Given the description of an element on the screen output the (x, y) to click on. 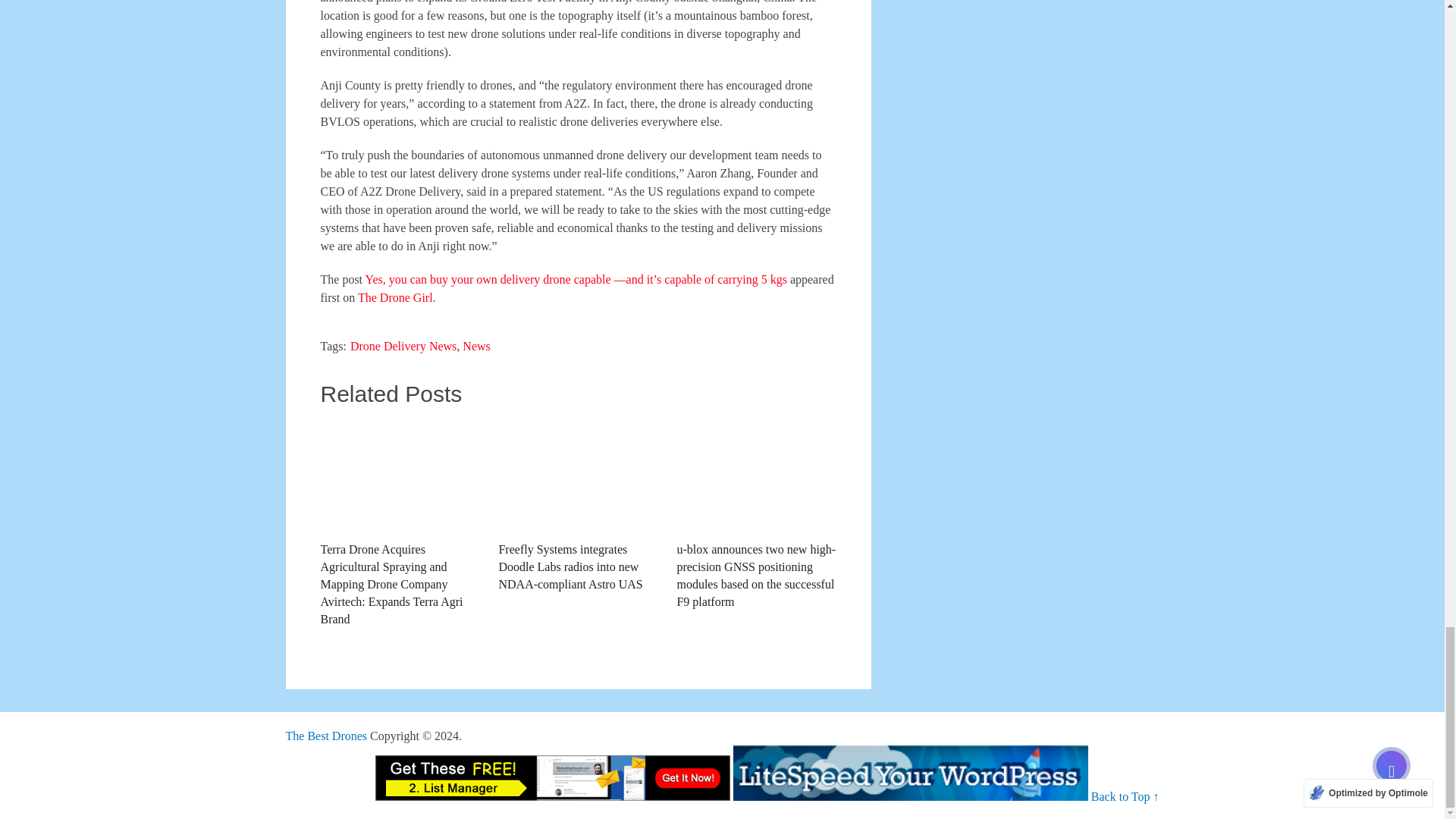
News (476, 345)
Quadcopters and Drones Review (325, 735)
The Best Drones (325, 735)
The Drone Girl (395, 297)
Drone Delivery News (403, 345)
